Given the description of an element on the screen output the (x, y) to click on. 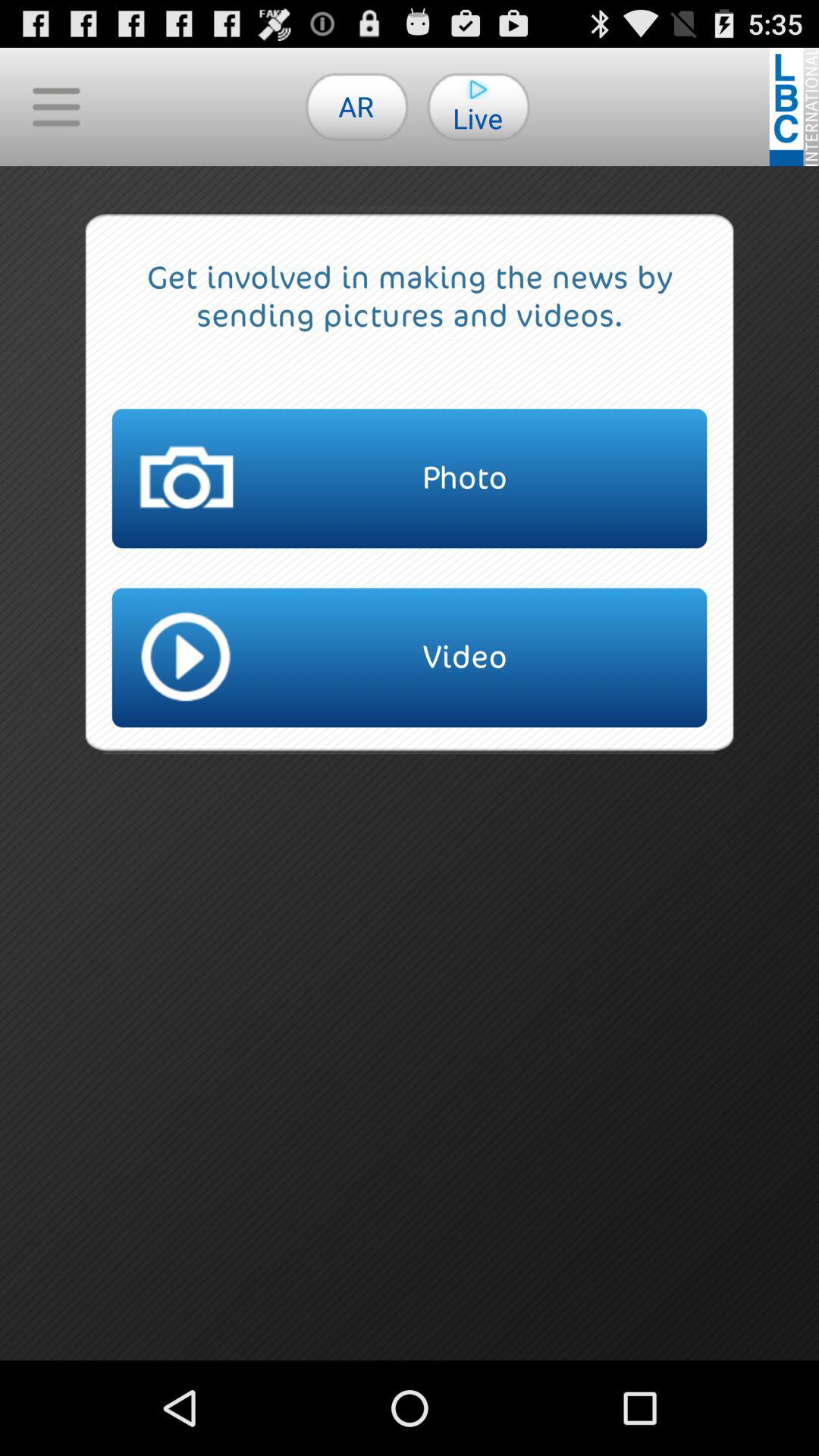
open icon below the photo item (409, 657)
